Given the description of an element on the screen output the (x, y) to click on. 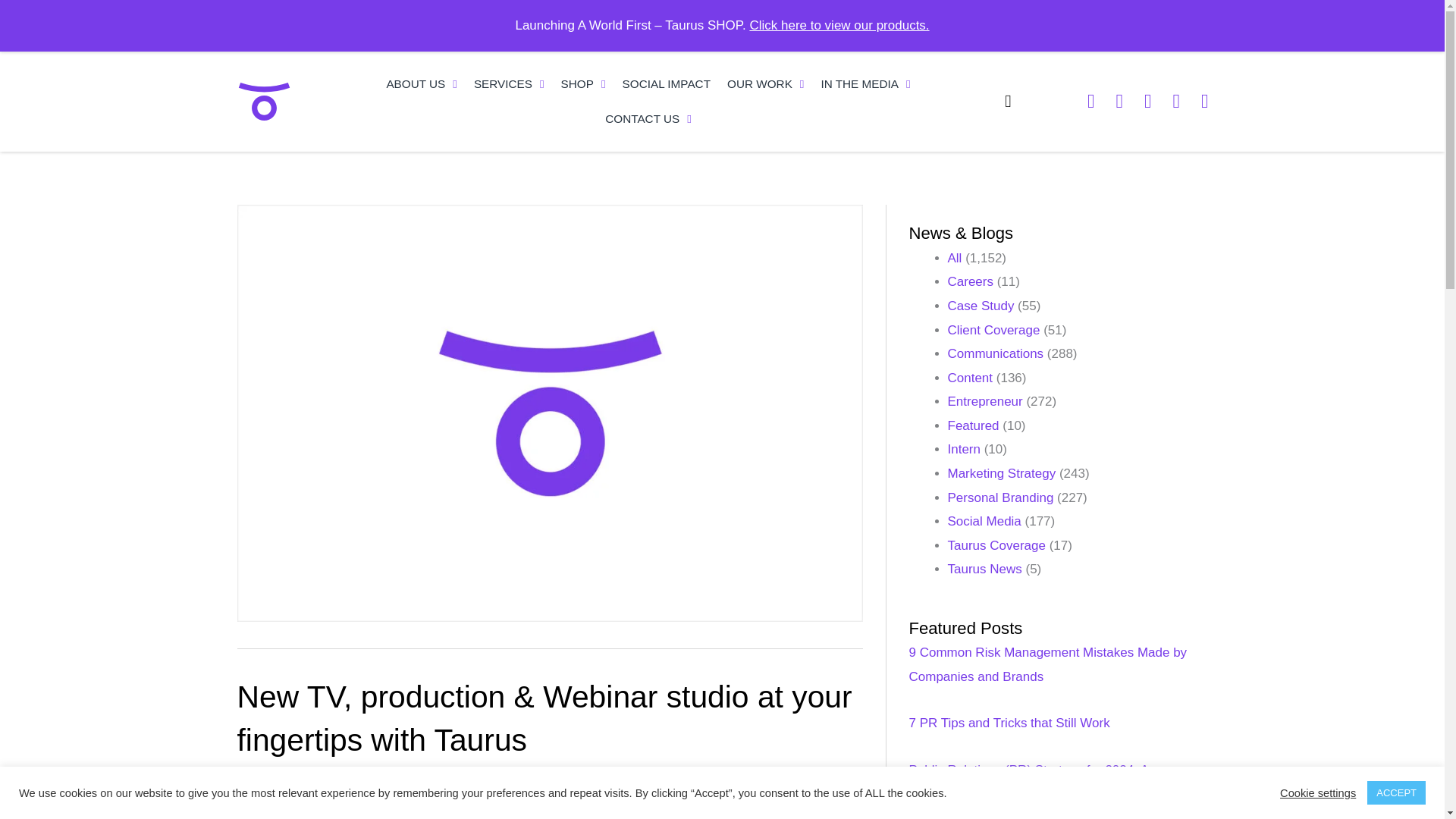
SHOP (583, 83)
CONTACT US (648, 118)
IN THE MEDIA (865, 83)
SERVICES (509, 83)
SOCIAL IMPACT (666, 83)
ABOUT US (421, 83)
OUR WORK (765, 83)
Click here to view our products. (838, 25)
